Given the description of an element on the screen output the (x, y) to click on. 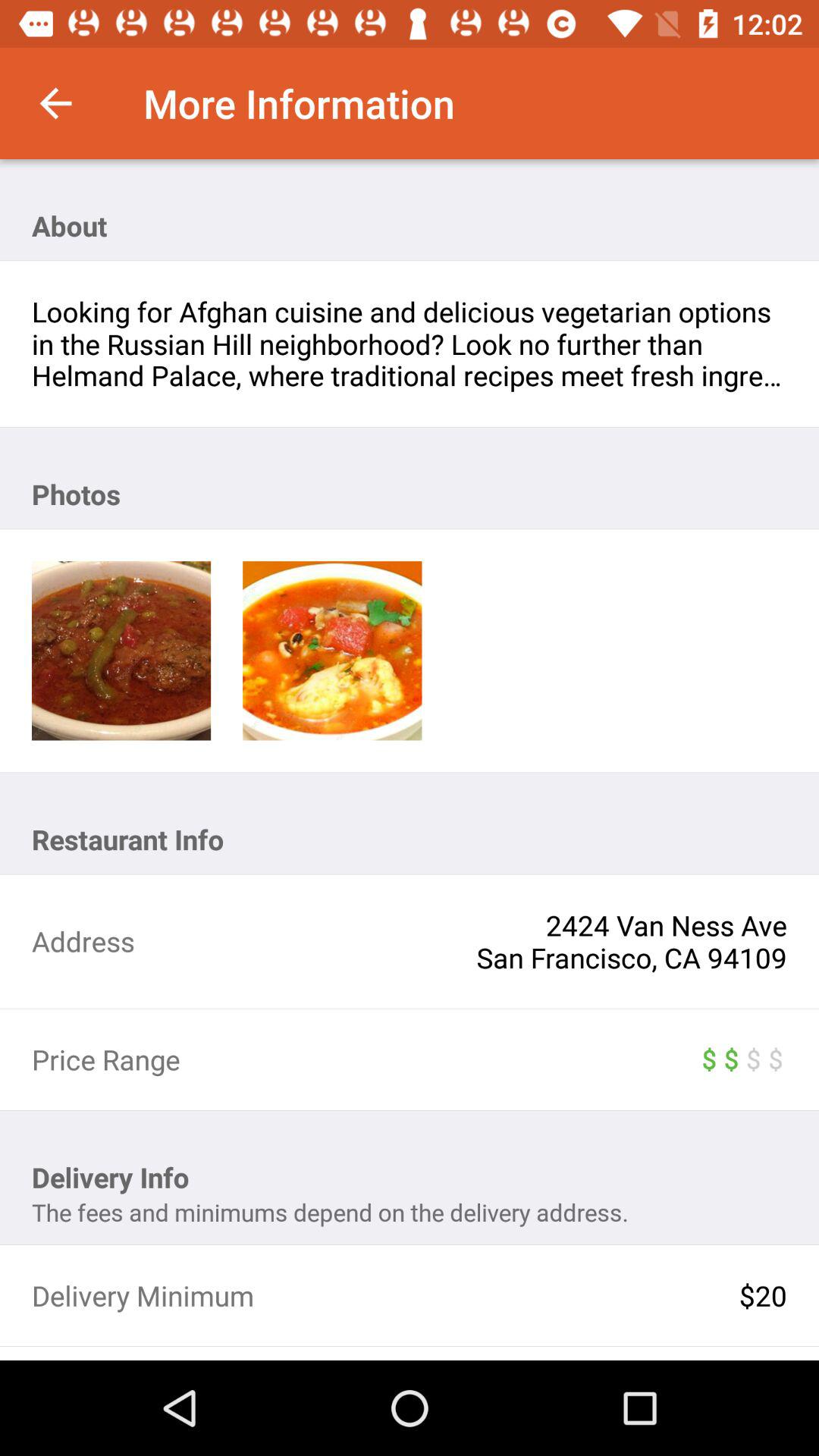
click icon above photos icon (409, 344)
